Given the description of an element on the screen output the (x, y) to click on. 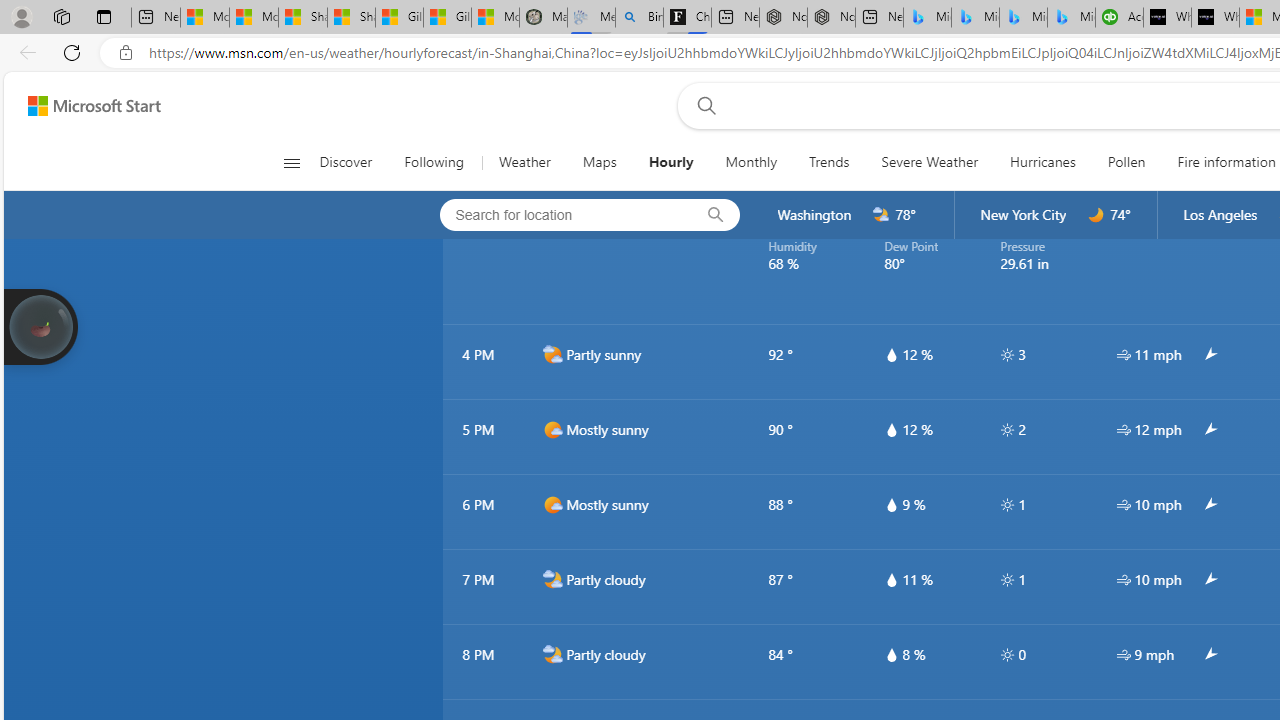
Join us in planting real trees to help our planet! (40, 327)
Hourly (671, 162)
hourlyTable/wind (1123, 654)
Join us in planting real trees to help our planet! (40, 325)
Maps (599, 162)
Search for location (560, 214)
Severe Weather (929, 162)
